Given the description of an element on the screen output the (x, y) to click on. 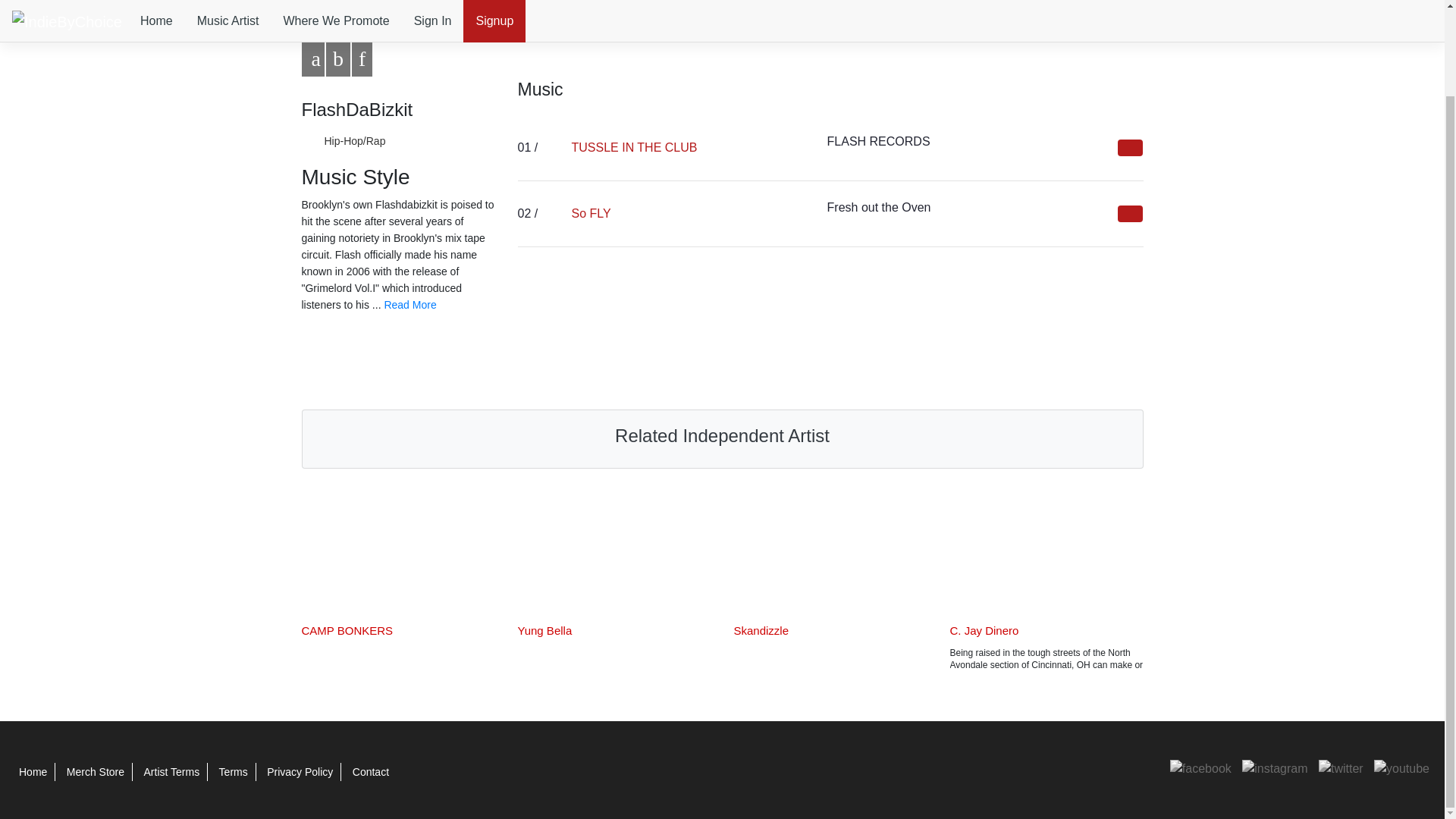
subscribe on youtube (1401, 767)
like us on facebook (1200, 767)
get some IBC gear (94, 771)
Yung Bella (544, 630)
CAMP BONKERS (347, 630)
Terms (233, 771)
Skandizzle (761, 630)
C. Jay Dinero (983, 630)
